Given the description of an element on the screen output the (x, y) to click on. 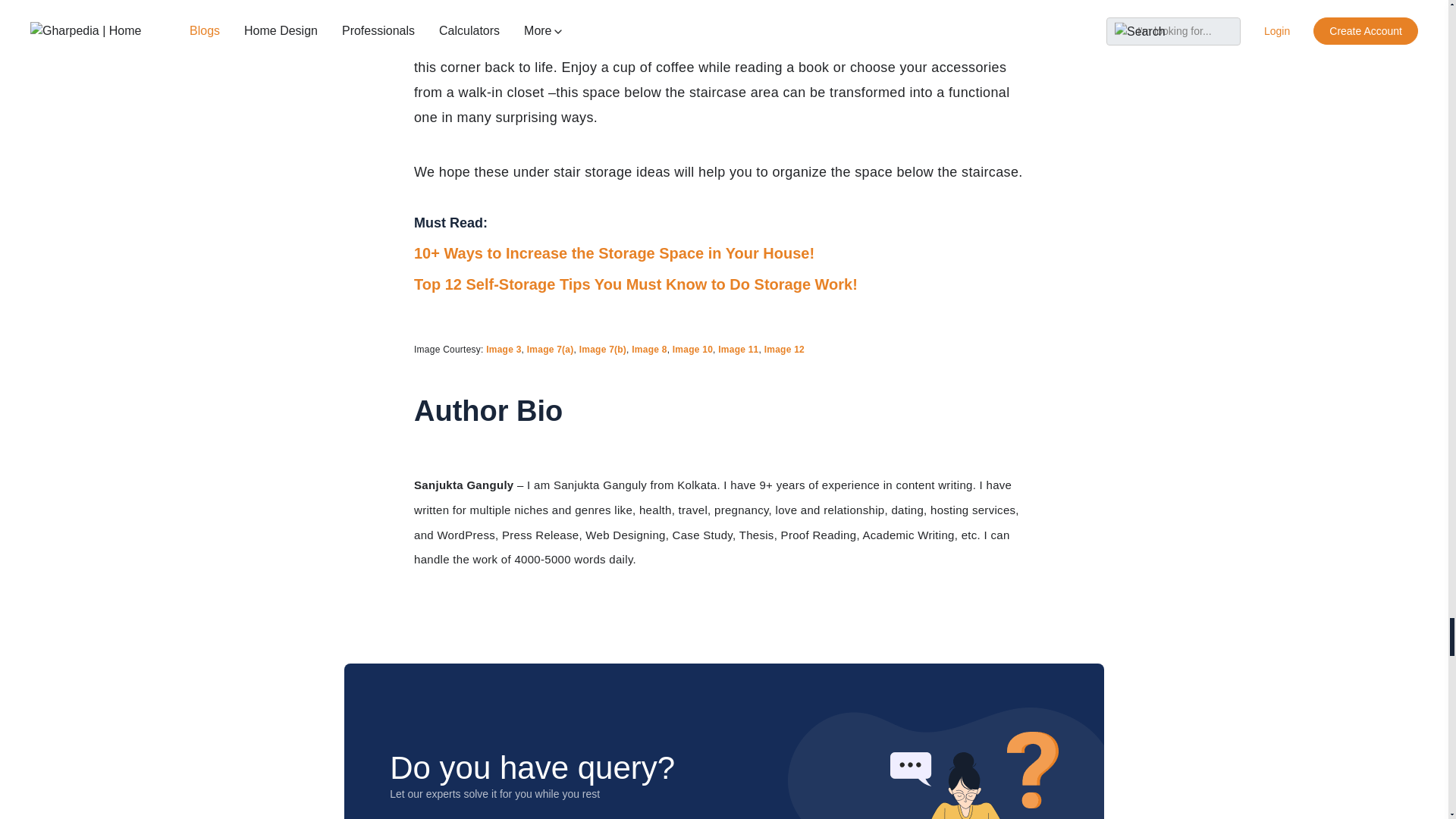
Image 11 (737, 348)
Image 8 (648, 348)
Image 3 (503, 348)
Image 12 (784, 348)
Image 10 (692, 348)
Top 12 Self-Storage Tips You Must Know to Do Storage Work! (635, 284)
